Given the description of an element on the screen output the (x, y) to click on. 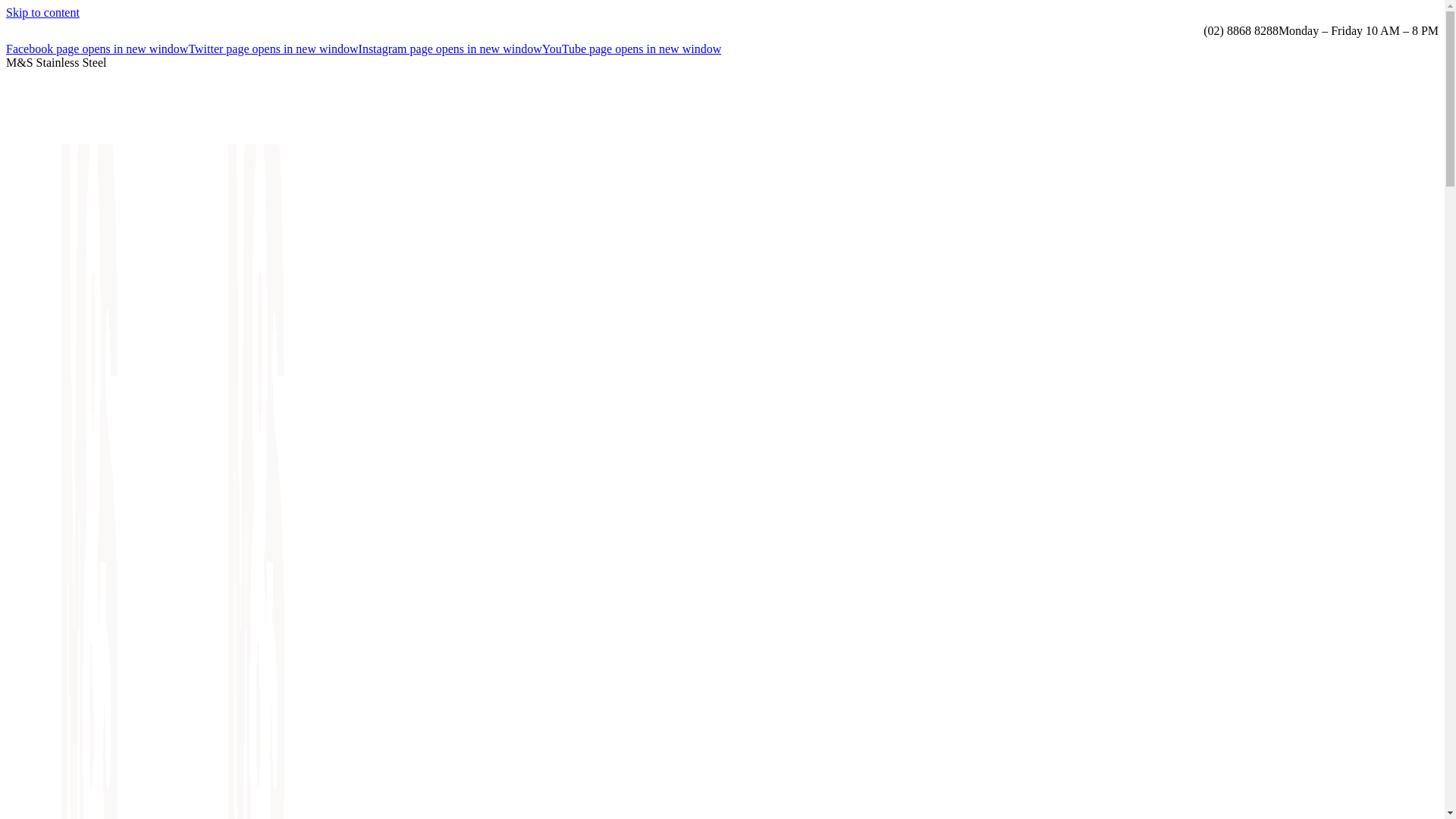
Twitter page opens in new window Element type: text (272, 48)
Instagram page opens in new window Element type: text (450, 48)
Facebook page opens in new window Element type: text (97, 48)
YouTube page opens in new window Element type: text (631, 48)
Skip to content Element type: text (42, 12)
